Given the description of an element on the screen output the (x, y) to click on. 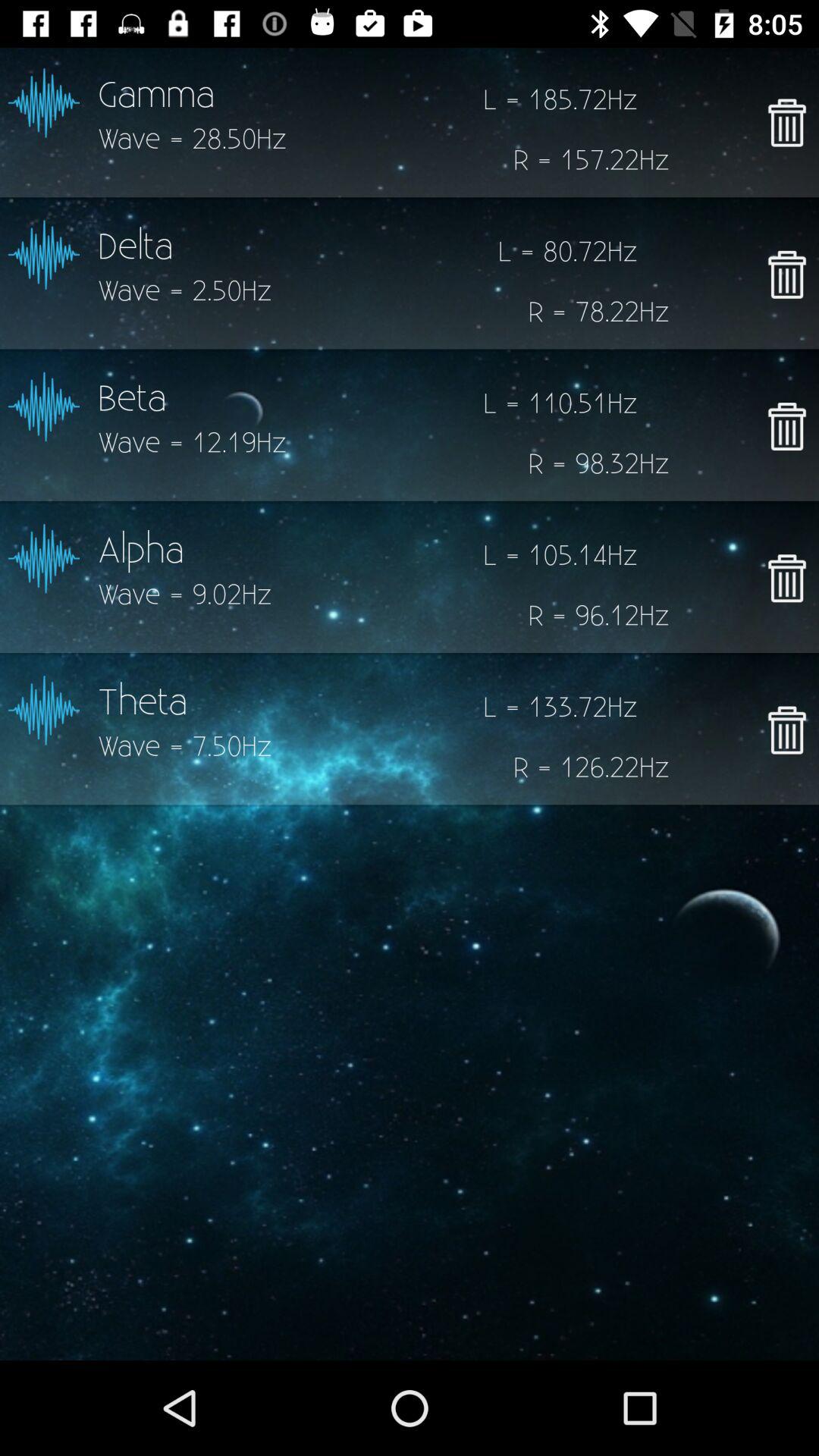
gamma (787, 122)
